Given the description of an element on the screen output the (x, y) to click on. 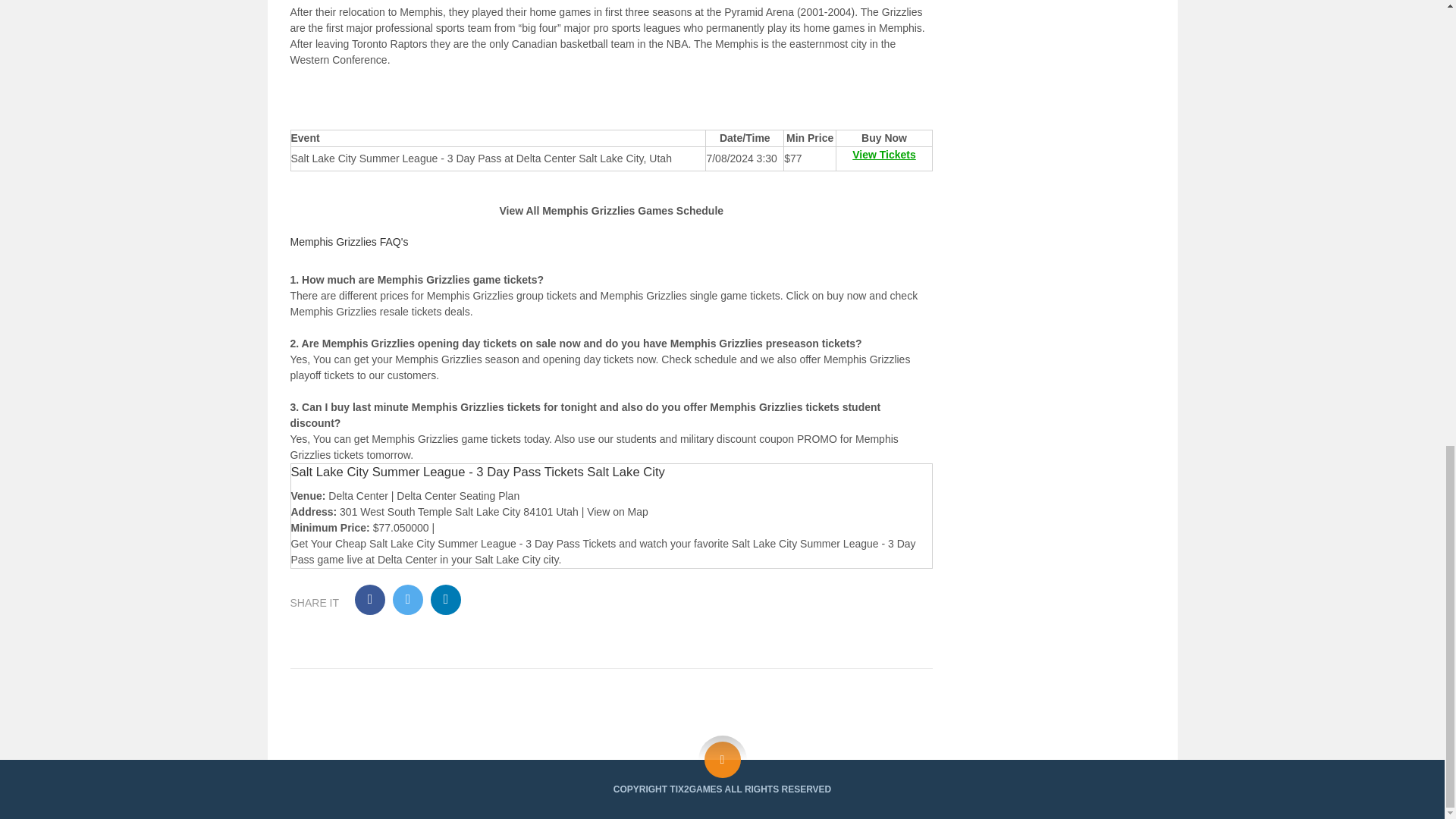
Share on Twitter (408, 599)
Share on Facebook (370, 599)
Delta Center Seating Plan (457, 495)
View All Memphis Grizzlies Games Schedule (611, 210)
View Tickets (883, 154)
Cheap Salt Lake City Summer League - 3 Day Pass Tickets (474, 543)
View on Map (616, 511)
Share on LinkedIn (445, 599)
